Given the description of an element on the screen output the (x, y) to click on. 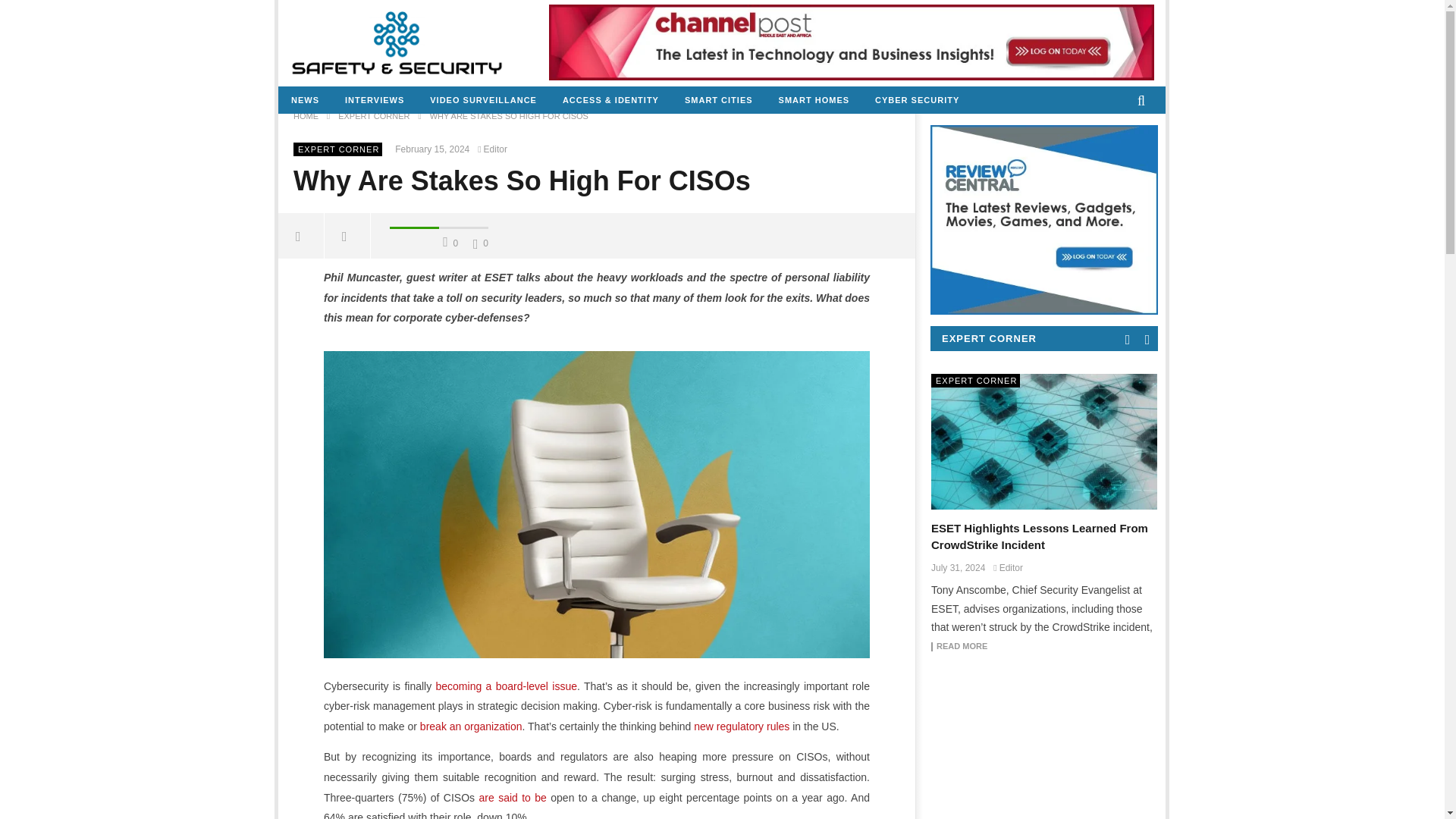
new regulatory rules (741, 726)
VIDEO SURVEILLANCE (483, 99)
becoming a board-level issue (505, 686)
break an organization (471, 726)
Editor (494, 148)
View all posts in Expert Corner (338, 148)
Posts by Editor (494, 148)
are said to be (512, 797)
EXPERT CORNER (338, 148)
SMART CITIES (718, 99)
